Given the description of an element on the screen output the (x, y) to click on. 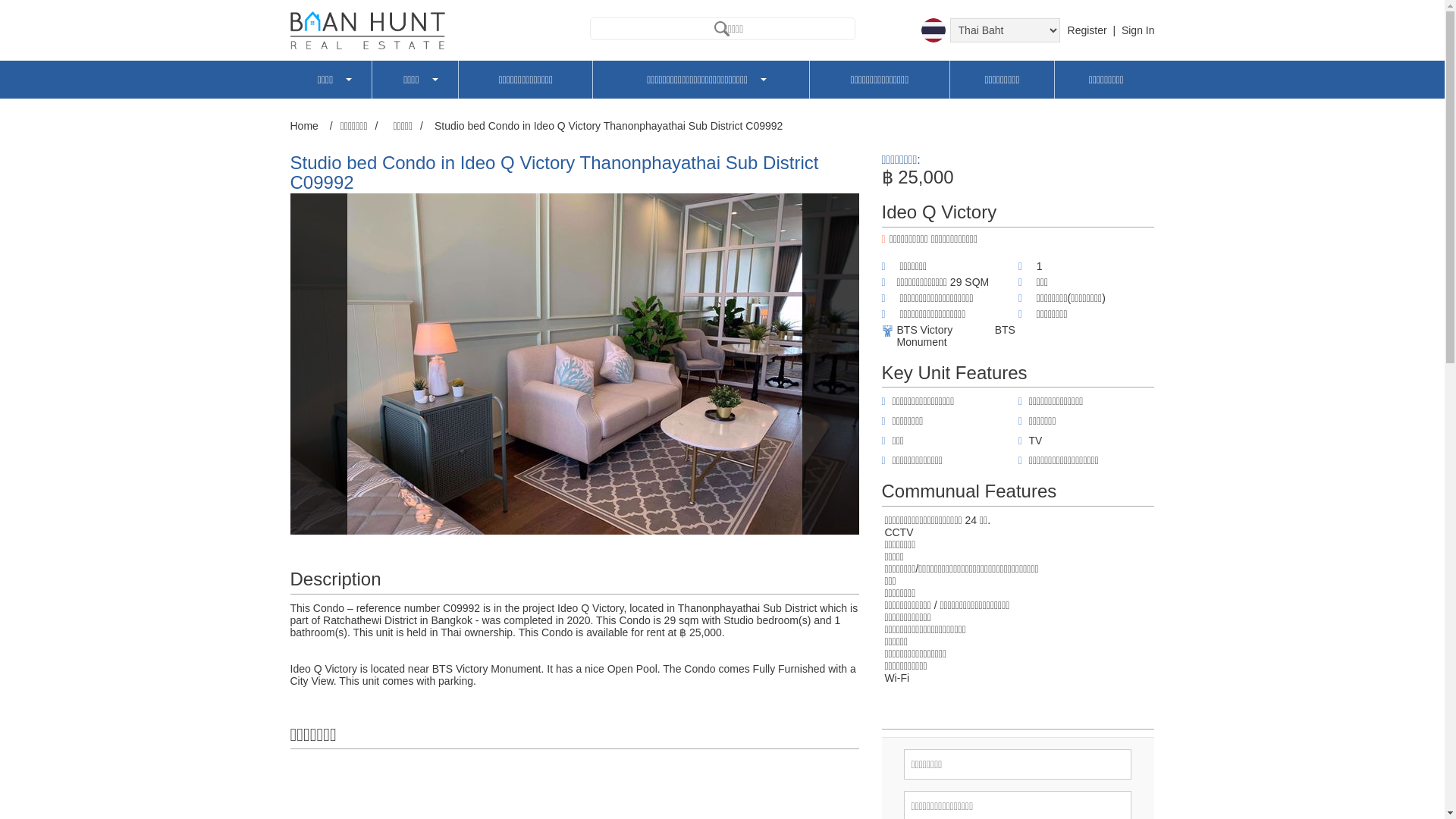
Sign In (1137, 30)
Register (1088, 30)
Home (305, 125)
Next (838, 363)
Prev (309, 363)
